Given the description of an element on the screen output the (x, y) to click on. 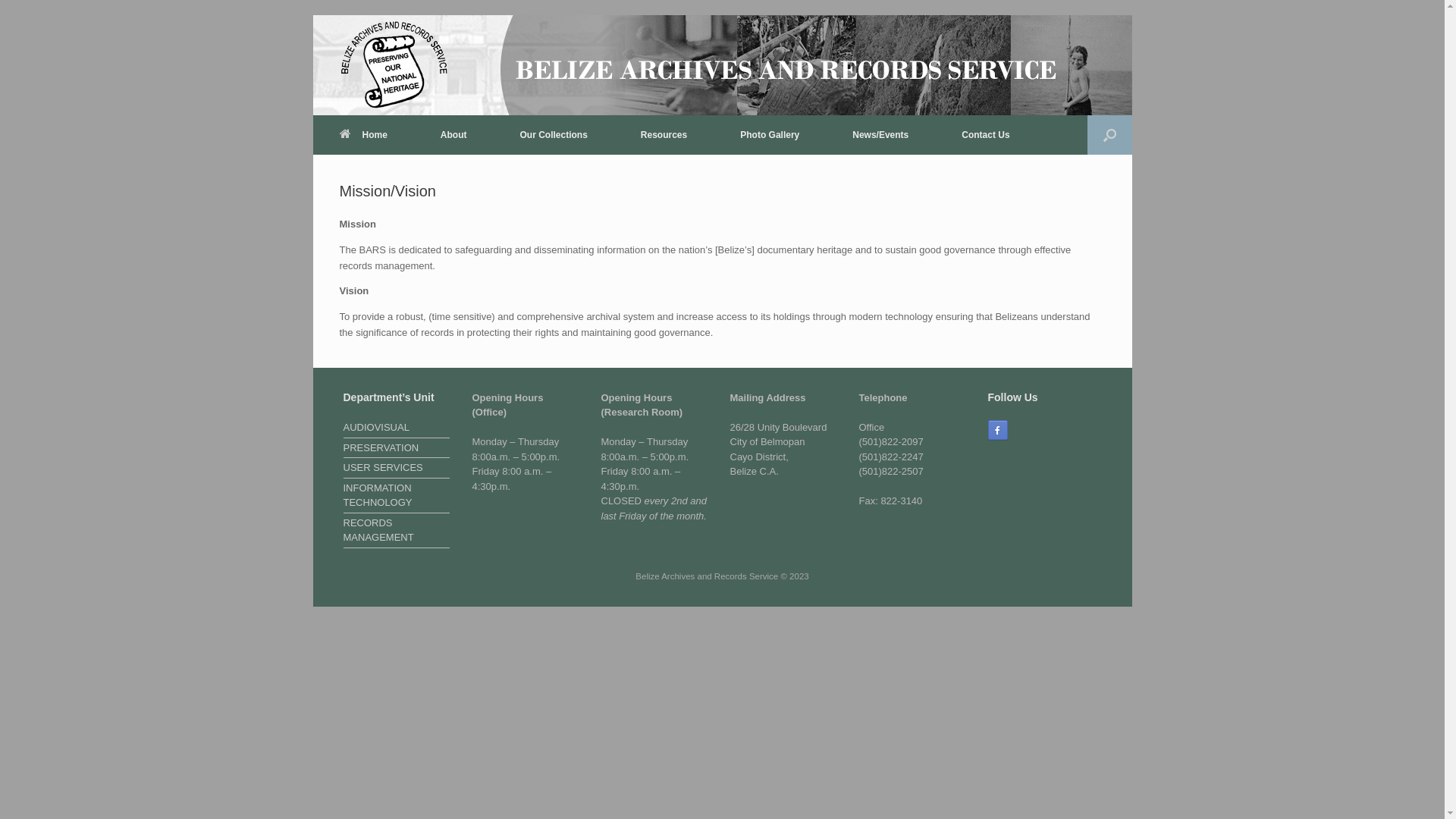
About Element type: text (453, 134)
RECORDS MANAGEMENT Element type: text (395, 531)
News/Events Element type: text (880, 134)
Belize Archives and Records Service Facebook Element type: hover (997, 429)
PRESERVATION Element type: text (395, 449)
Home Element type: text (362, 134)
Belize Archives and Records Service Element type: hover (393, 64)
INFORMATION TECHNOLOGY Element type: text (395, 496)
Resources Element type: text (663, 134)
Contact Us Element type: text (985, 134)
AUDIOVISUAL Element type: text (395, 429)
Photo Gallery Element type: text (769, 134)
Our Collections Element type: text (552, 134)
USER SERVICES Element type: text (395, 469)
